Given the description of an element on the screen output the (x, y) to click on. 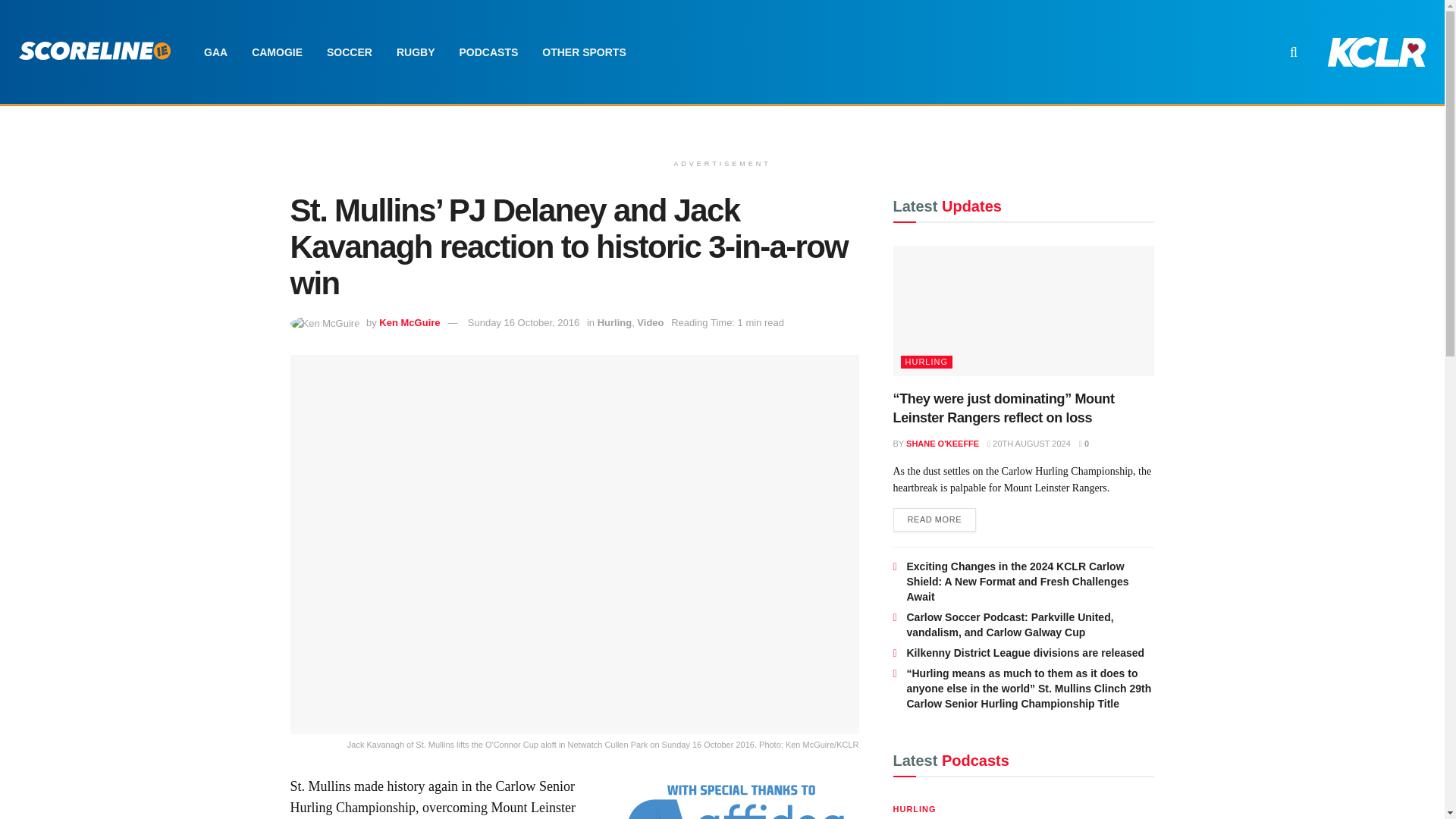
0 (1083, 442)
Hurling (613, 322)
SHANE O'KEEFFE (941, 442)
Ken McGuire (408, 322)
HURLING (927, 361)
RUGBY (415, 52)
Video (650, 322)
GAA (216, 52)
CAMOGIE (277, 52)
20TH AUGUST 2024 (1028, 442)
